Given the description of an element on the screen output the (x, y) to click on. 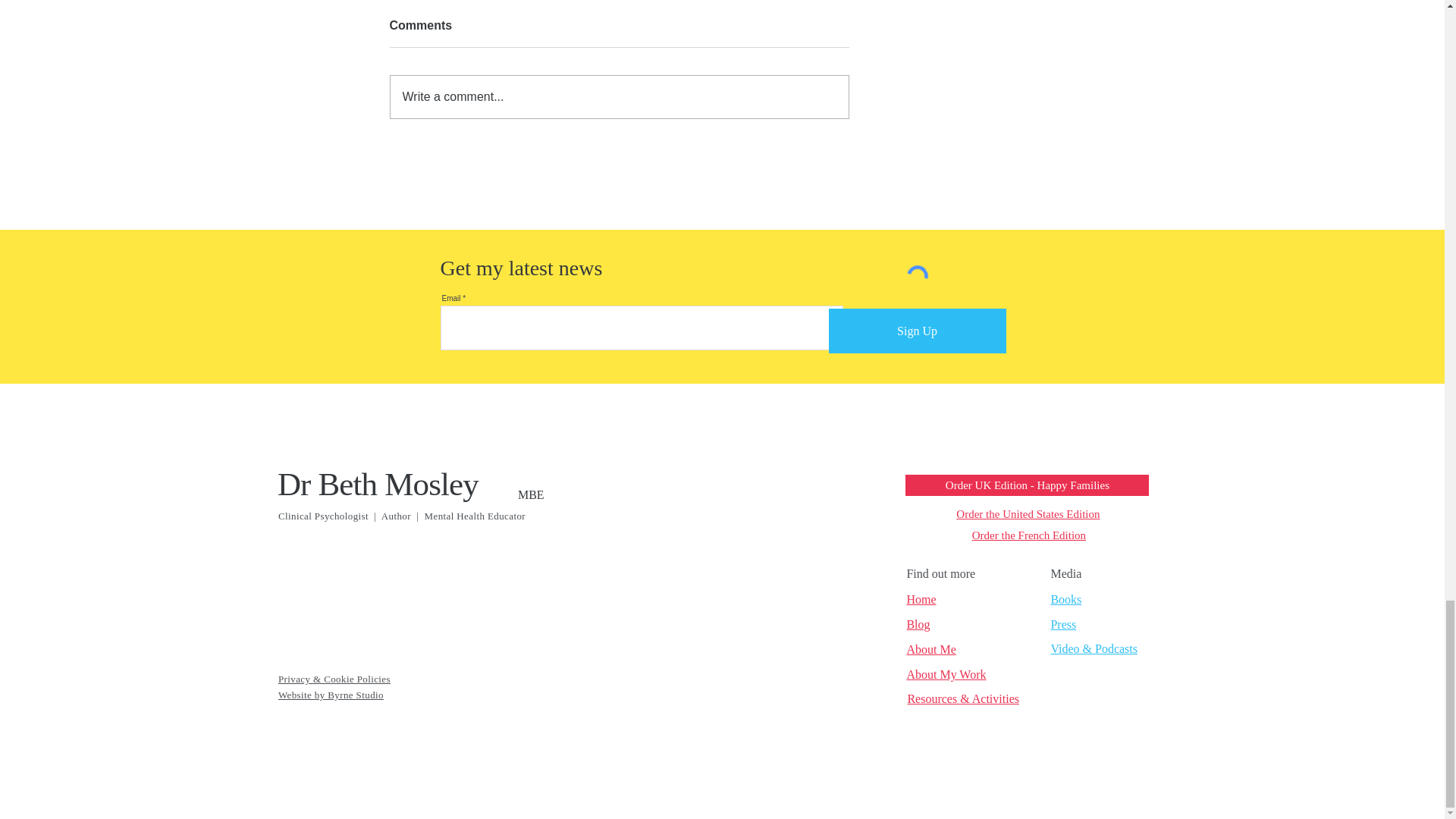
Write a comment... (618, 96)
